Given the description of an element on the screen output the (x, y) to click on. 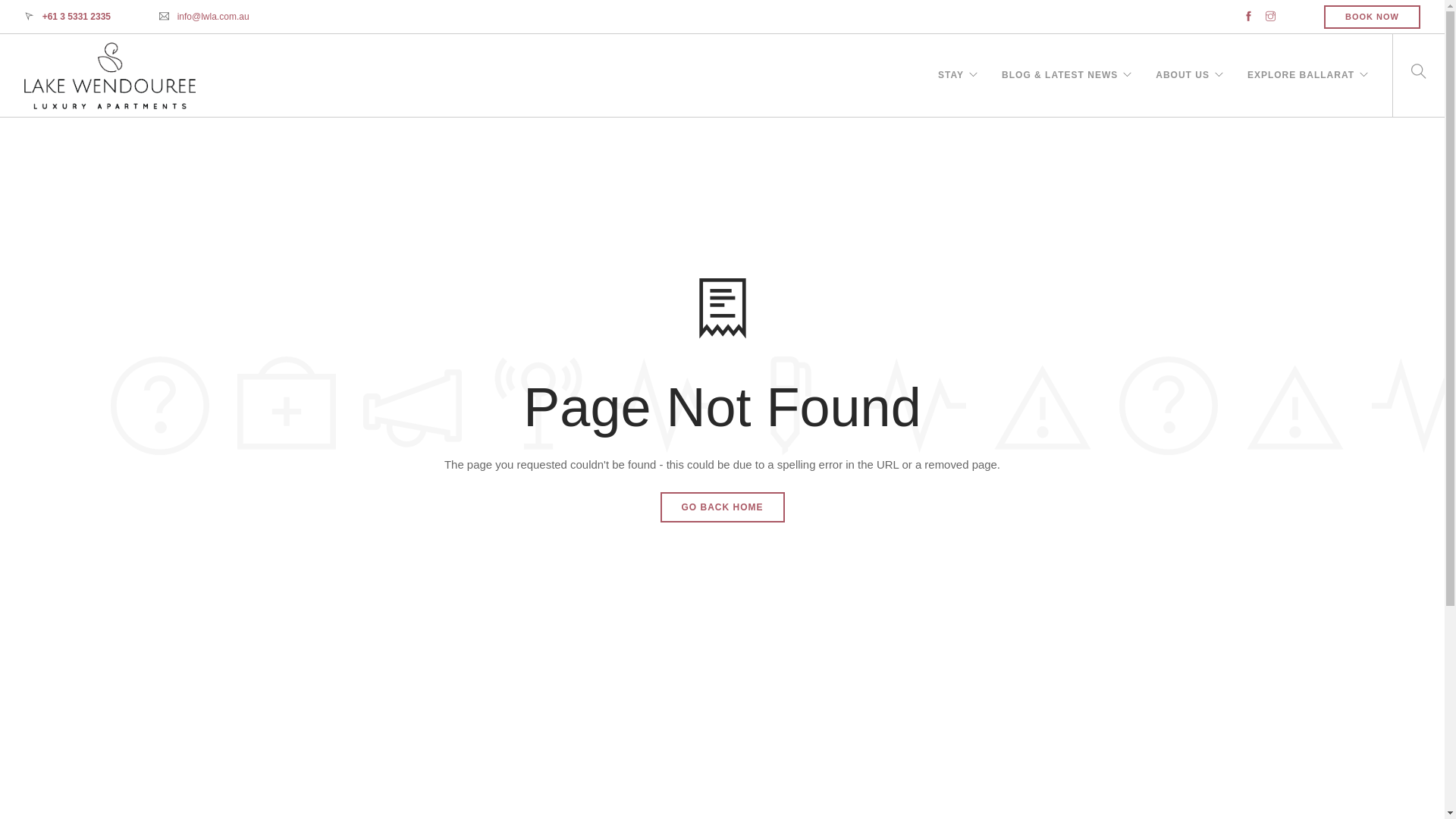
info@lwla.com.au Element type: text (213, 16)
BOOK NOW Element type: text (1372, 16)
BLOG & LATEST NEWS Element type: text (1059, 90)
ABOUT US Element type: text (1182, 90)
EXPLORE BALLARAT Element type: text (1300, 90)
GO BACK HOME Element type: text (721, 507)
+61 3 5331 2335 Element type: text (76, 16)
STAY Element type: text (950, 90)
